Given the description of an element on the screen output the (x, y) to click on. 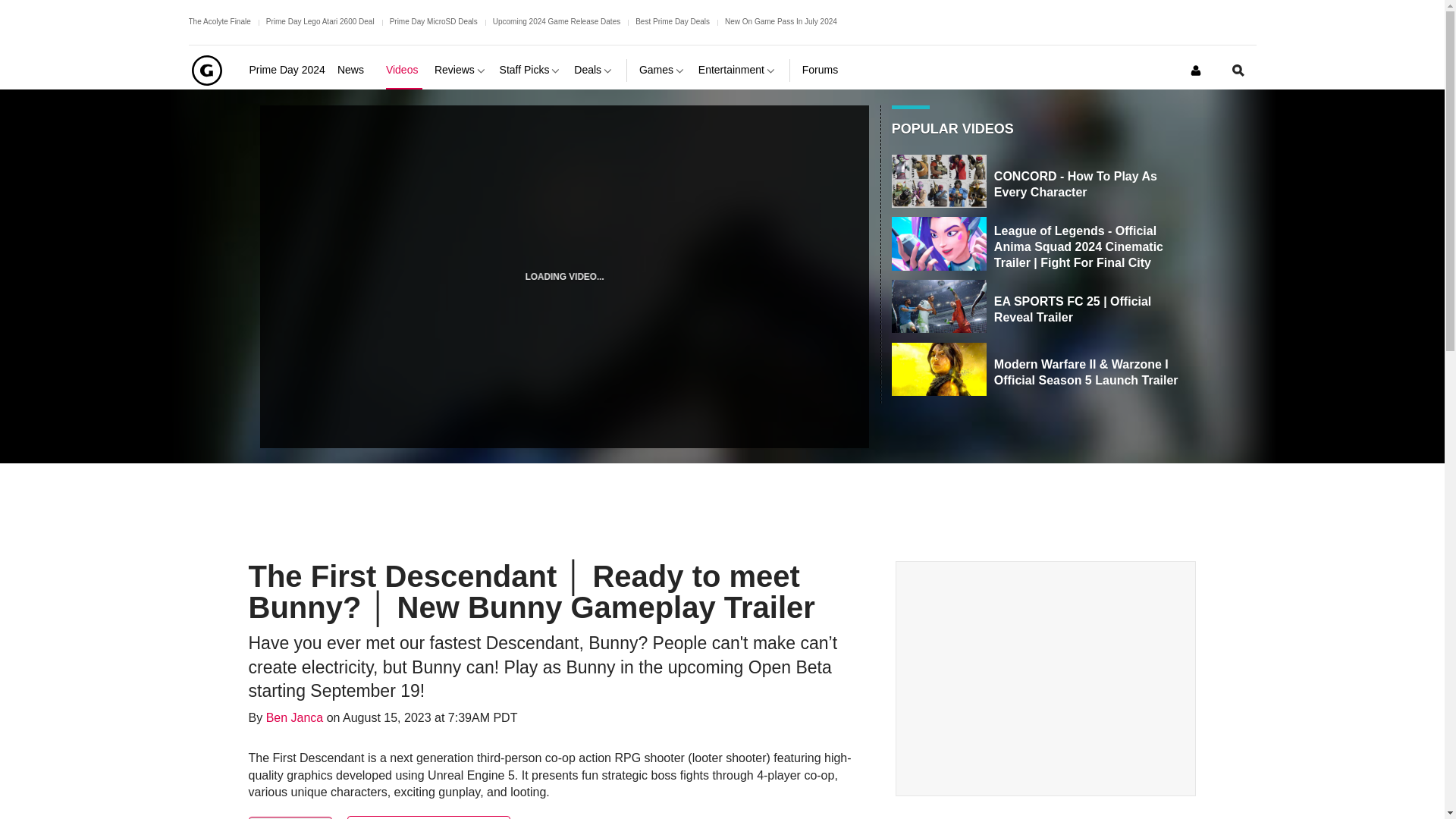
Games (662, 70)
Prime Day Lego Atari 2600 Deal (320, 21)
GameSpot (205, 70)
Best Prime Day Deals (672, 21)
Prime Day 2024 (286, 70)
The Acolyte Finale (218, 21)
New On Game Pass In July 2024 (781, 21)
News (355, 70)
Upcoming 2024 Game Release Dates (556, 21)
Staff Picks (530, 70)
Reviews (460, 70)
Deals (593, 70)
Prime Day MicroSD Deals (433, 21)
Videos (403, 70)
